Given the description of an element on the screen output the (x, y) to click on. 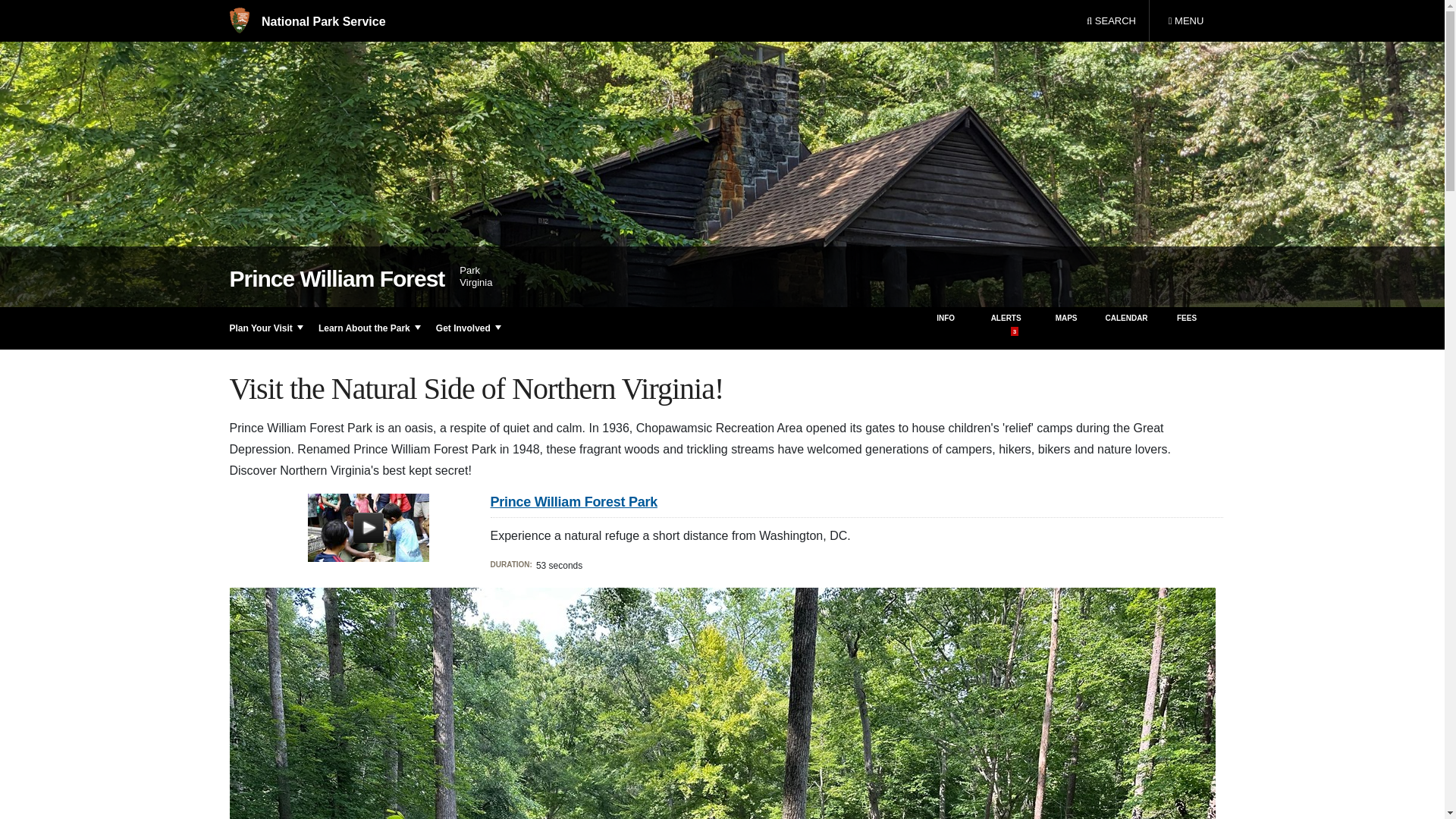
SEARCH (1111, 20)
National Park Service (307, 20)
